Given the description of an element on the screen output the (x, y) to click on. 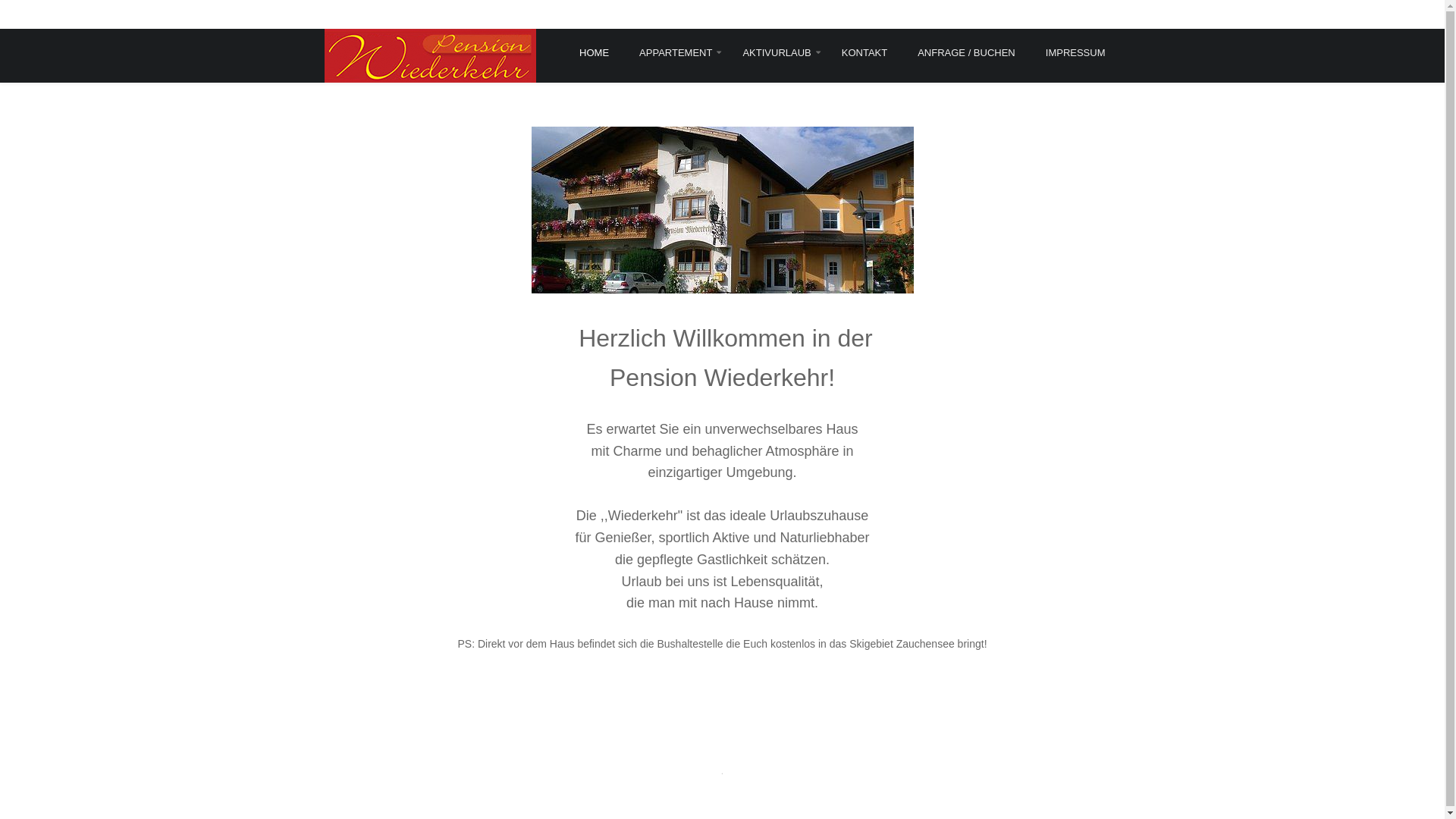
IMPRESSUM Element type: text (1075, 52)
HOME Element type: text (601, 52)
ANFRAGE / BUCHEN Element type: text (966, 52)
APPARTEMENT Element type: text (675, 52)
KONTAKT Element type: text (864, 52)
AKTIVURLAUB Element type: text (776, 52)
